Given the description of an element on the screen output the (x, y) to click on. 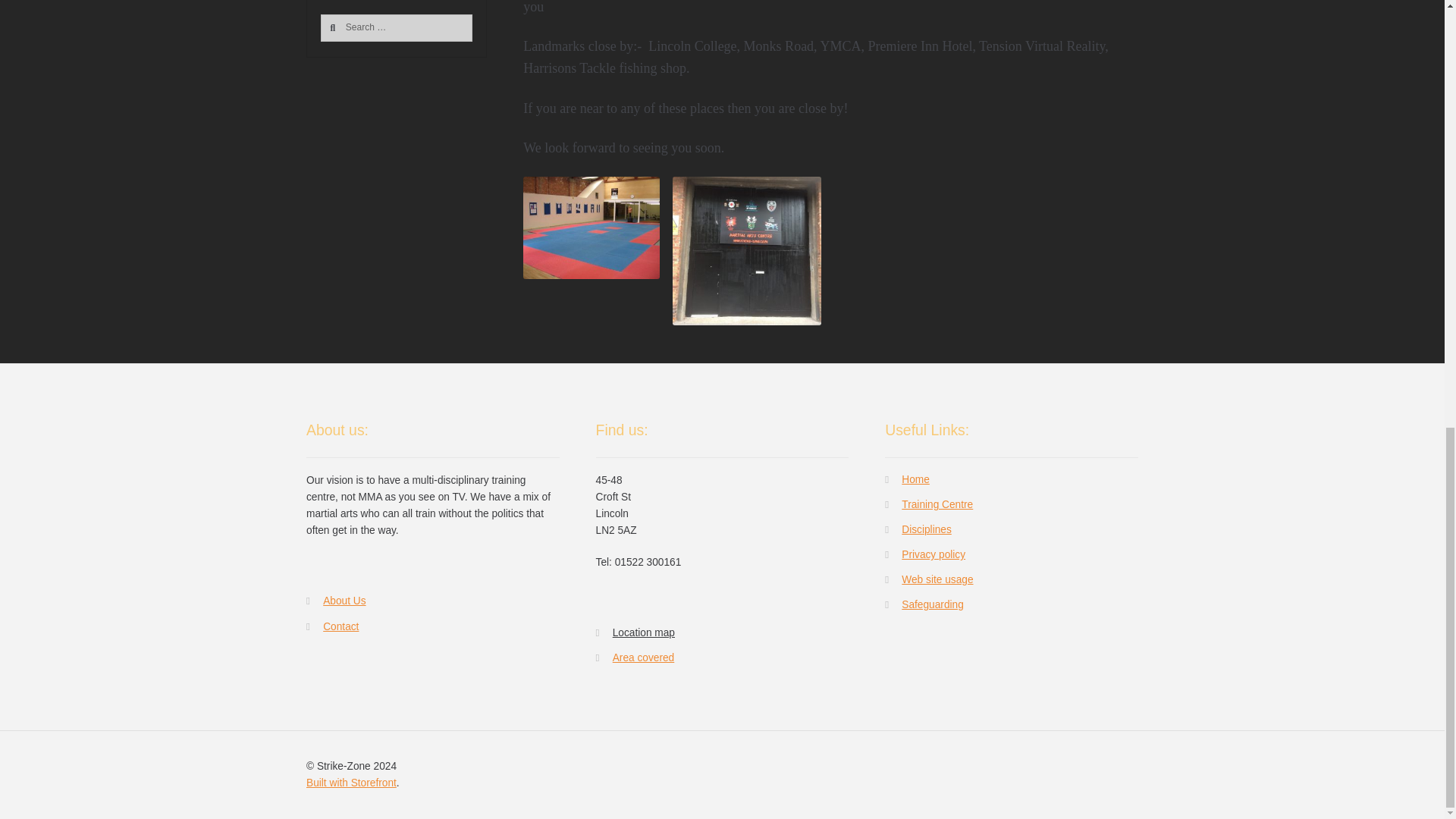
Location map (590, 227)
